Given the description of an element on the screen output the (x, y) to click on. 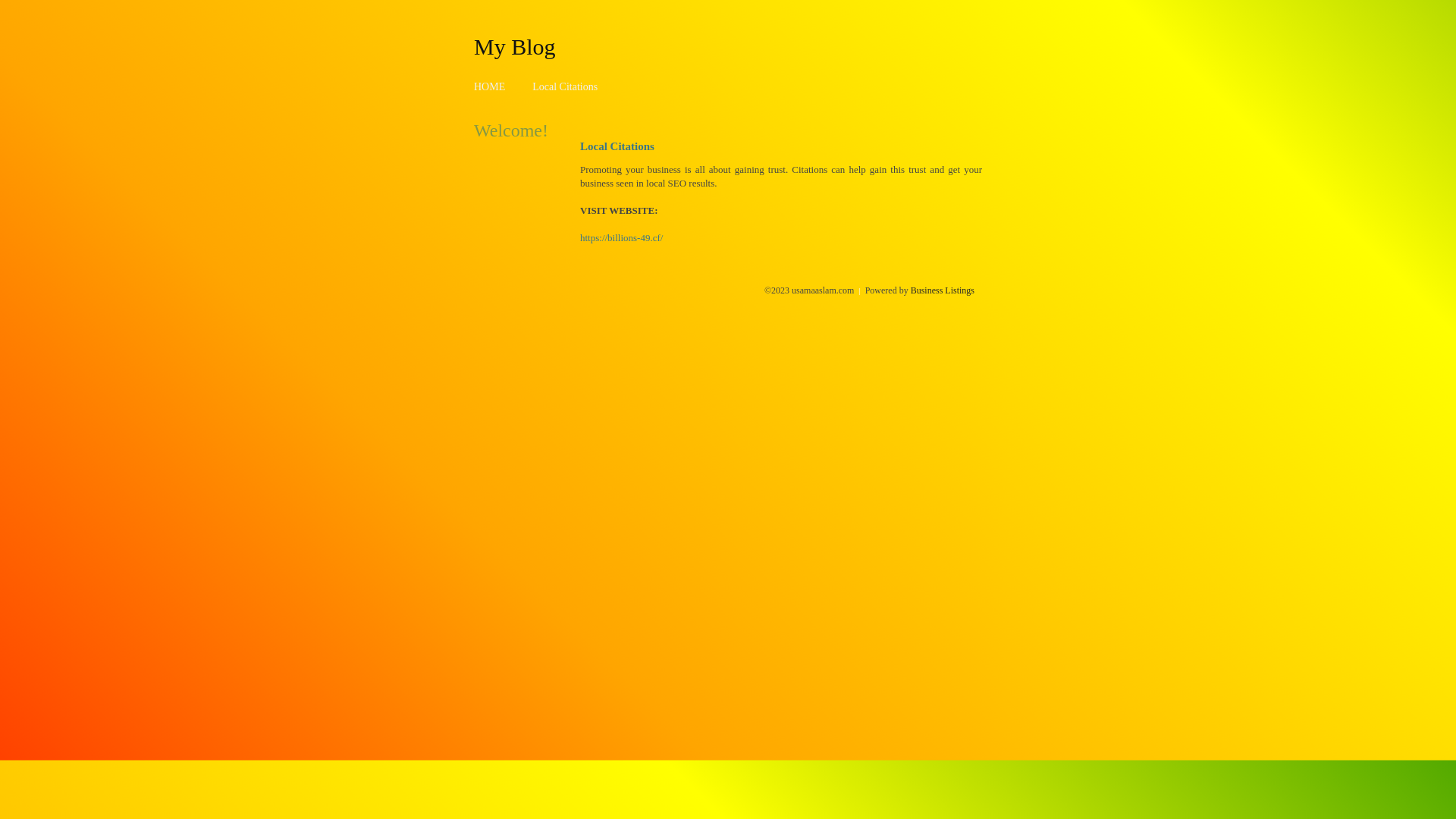
My Blog Element type: text (514, 46)
HOME Element type: text (489, 86)
https://billions-49.cf/ Element type: text (621, 237)
Business Listings Element type: text (942, 290)
Local Citations Element type: text (564, 86)
